Given the description of an element on the screen output the (x, y) to click on. 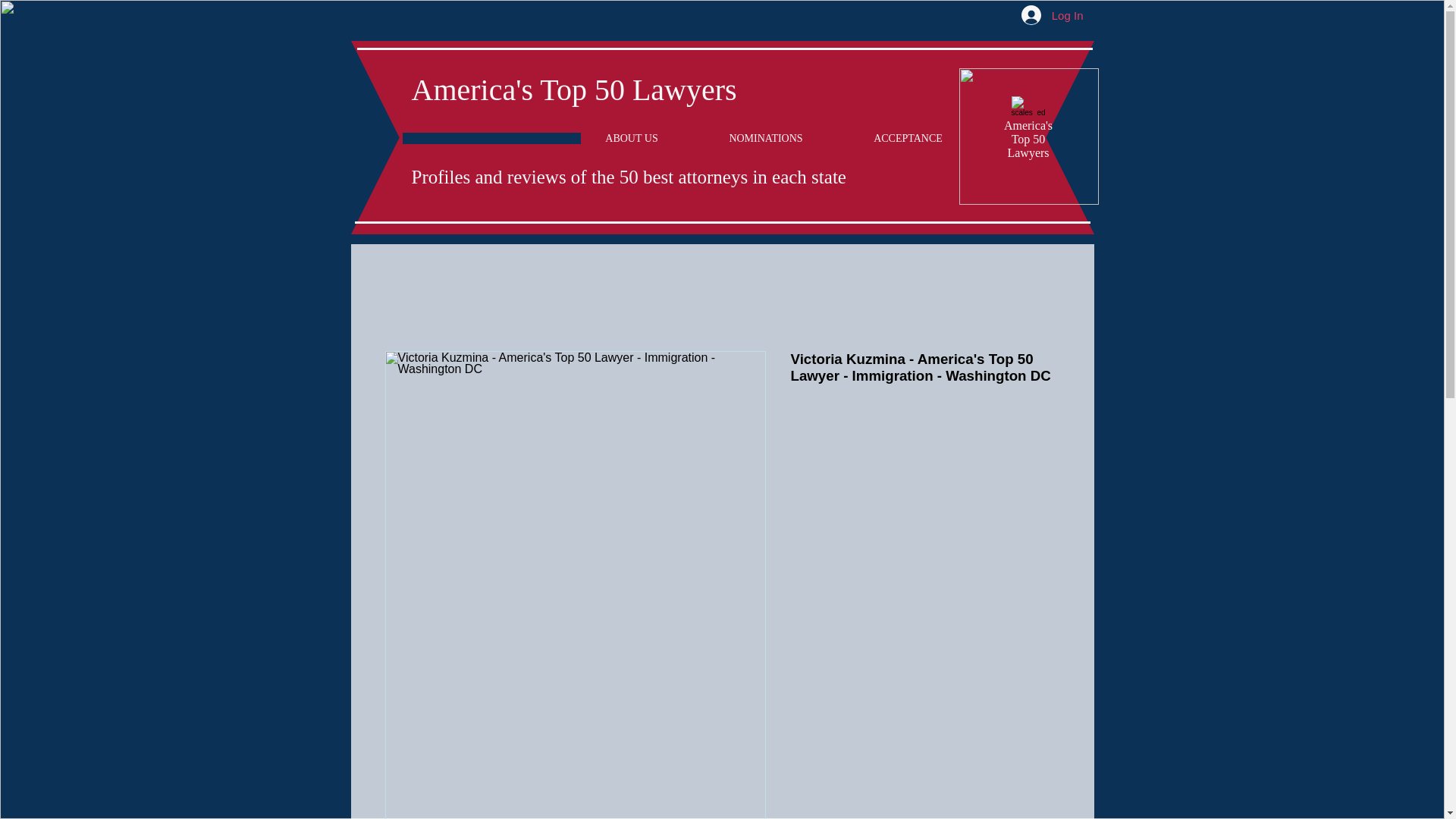
ACCEPTANCE (908, 138)
America's Top 50 Lawyers (573, 89)
NOMINATIONS (765, 138)
ABOUT US (632, 138)
Log In (1052, 14)
Profiles and reviews of the 50 best attorneys in each state (627, 177)
